Given the description of an element on the screen output the (x, y) to click on. 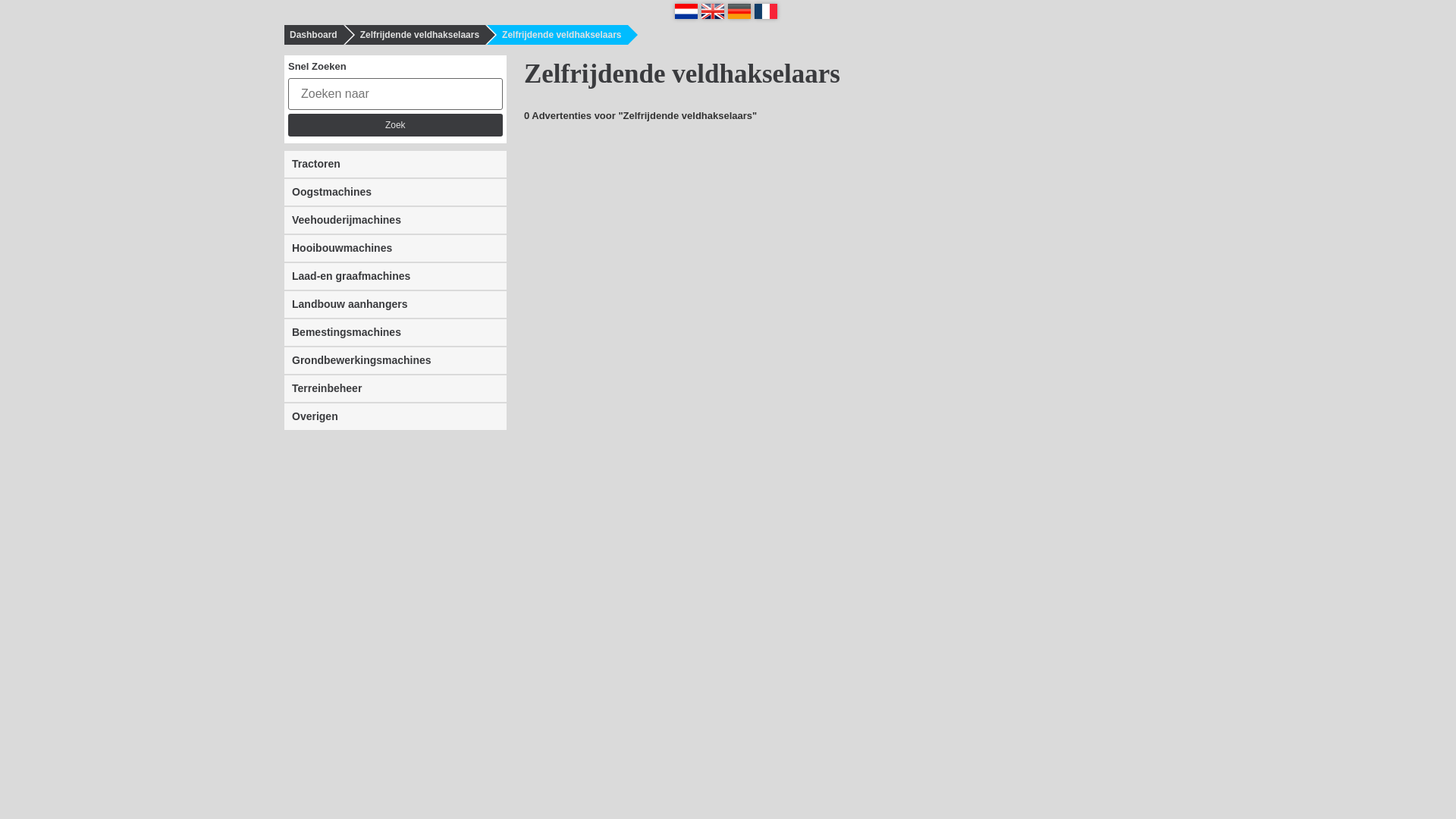
Grondbewerkingsmachines Element type: text (395, 360)
Zoek Element type: text (395, 124)
Veehouderijmachines Element type: text (395, 219)
Dashboard Element type: text (308, 34)
Bemestingsmachines Element type: text (395, 331)
Hooibouwmachines Element type: text (395, 248)
Overigen Element type: text (395, 416)
Oogstmachines Element type: text (395, 191)
Tractoren Element type: text (395, 163)
Zelfrijdende veldhakselaars Element type: text (556, 34)
Laad-en graafmachines Element type: text (395, 275)
Terreinbeheer Element type: text (395, 387)
Zelfrijdende veldhakselaars Element type: text (415, 34)
Landbouw aanhangers Element type: text (395, 304)
